Given the description of an element on the screen output the (x, y) to click on. 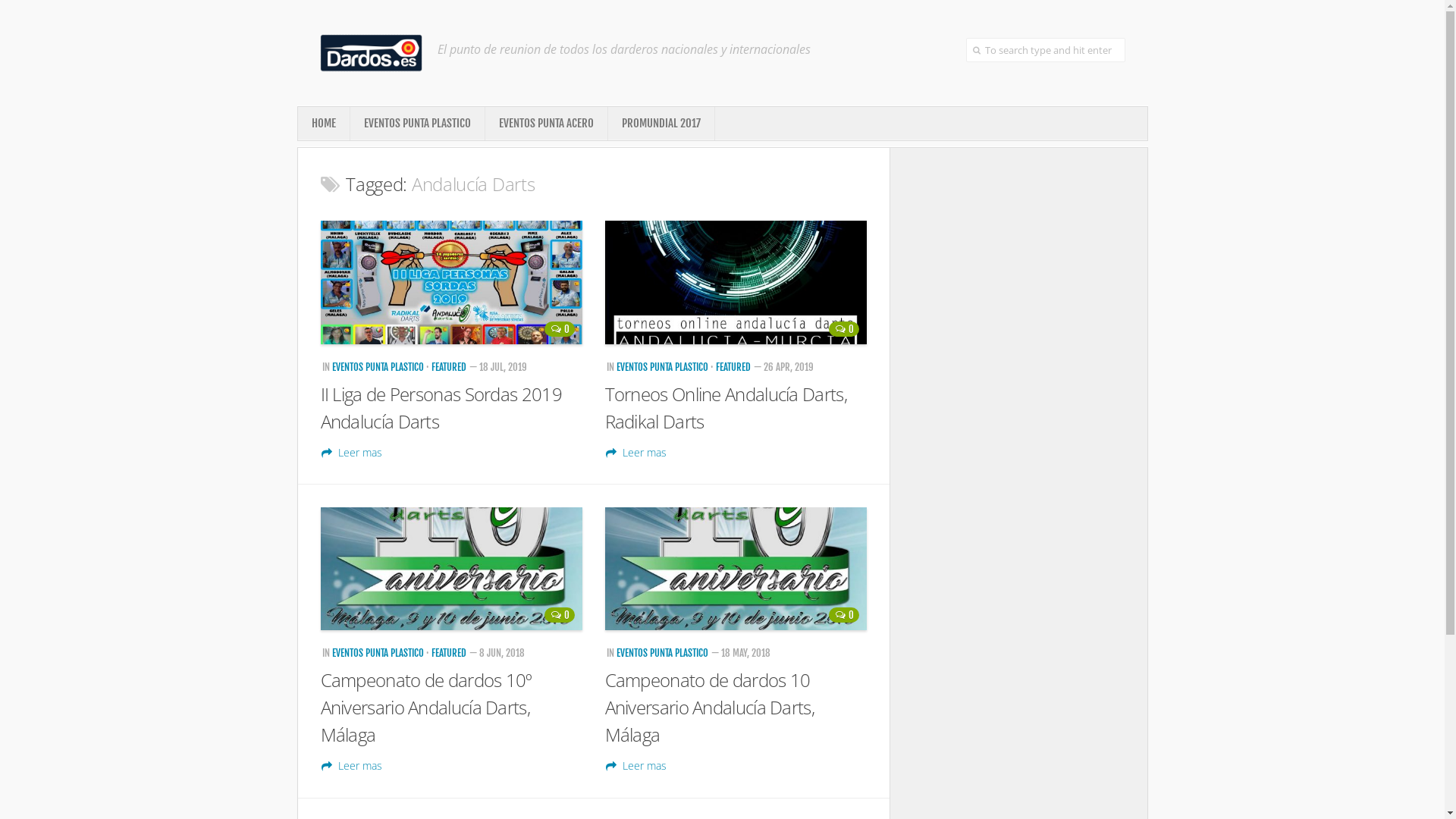
Leer mas Element type: text (351, 451)
Leer mas Element type: text (636, 451)
0 Element type: text (843, 328)
0 Element type: text (843, 614)
EVENTOS PUNTA PLASTICO Element type: text (377, 652)
0 Element type: text (559, 328)
EVENTOS PUNTA PLASTICO Element type: text (377, 366)
Leer mas Element type: text (351, 765)
FEATURED Element type: text (447, 652)
EVENTOS PUNTA PLASTICO Element type: text (417, 123)
EVENTOS PUNTA ACERO Element type: text (546, 123)
Leer mas Element type: text (636, 765)
EVENTOS PUNTA PLASTICO Element type: text (661, 366)
FEATURED Element type: text (447, 366)
EVENTOS PUNTA PLASTICO Element type: text (661, 652)
0 Element type: text (559, 614)
PROMUNDIAL 2017 Element type: text (661, 123)
FEATURED Element type: text (732, 366)
HOME Element type: text (322, 123)
